Given the description of an element on the screen output the (x, y) to click on. 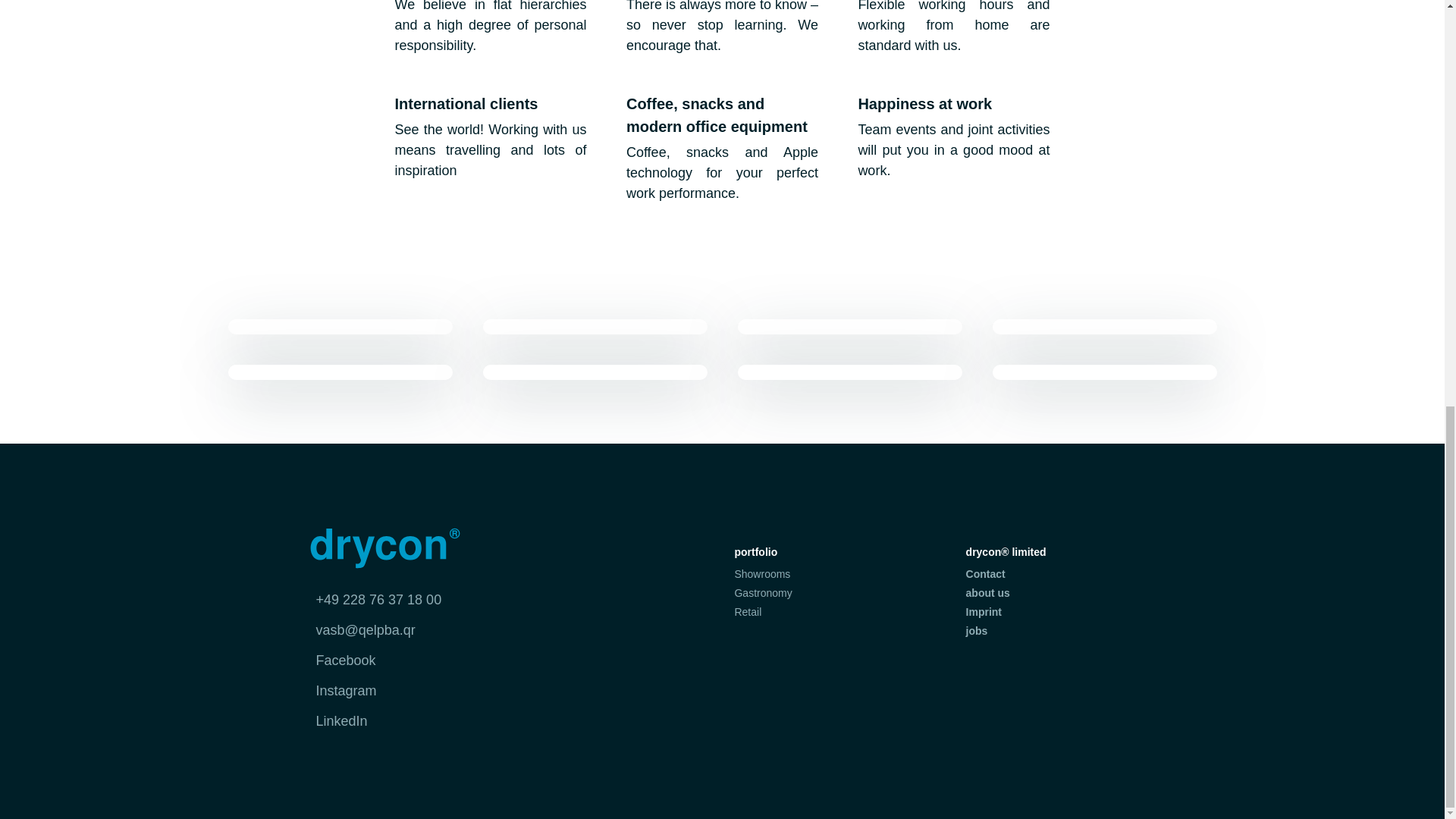
Retail (747, 612)
Gastronomy (762, 592)
jobs (977, 630)
portfolio (755, 553)
LinkedIn (337, 720)
Showrooms (761, 573)
about us (988, 592)
Contact (986, 573)
Imprint (983, 612)
Instagram (341, 690)
